Given the description of an element on the screen output the (x, y) to click on. 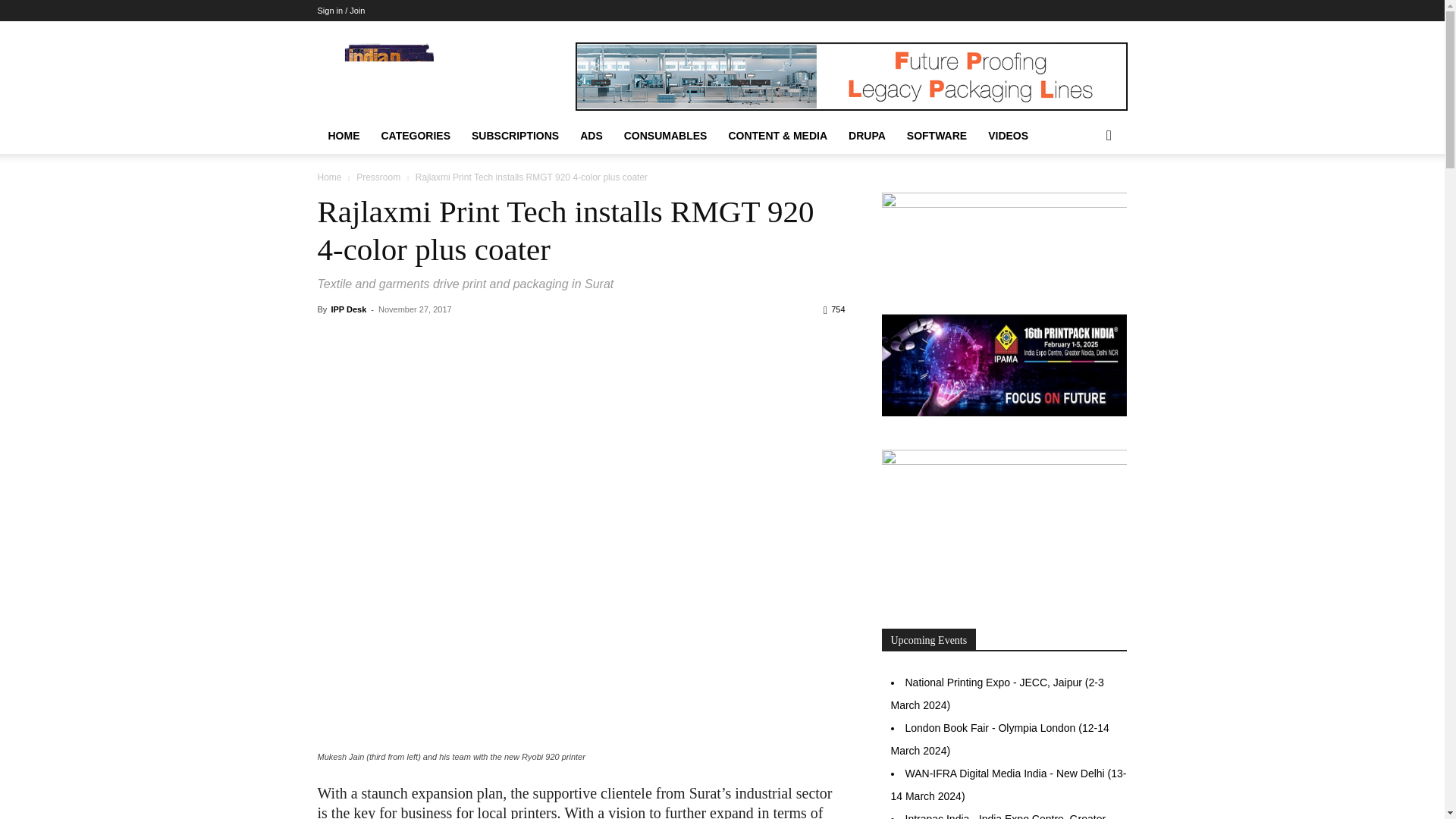
View all posts in Pressroom (378, 176)
